Given the description of an element on the screen output the (x, y) to click on. 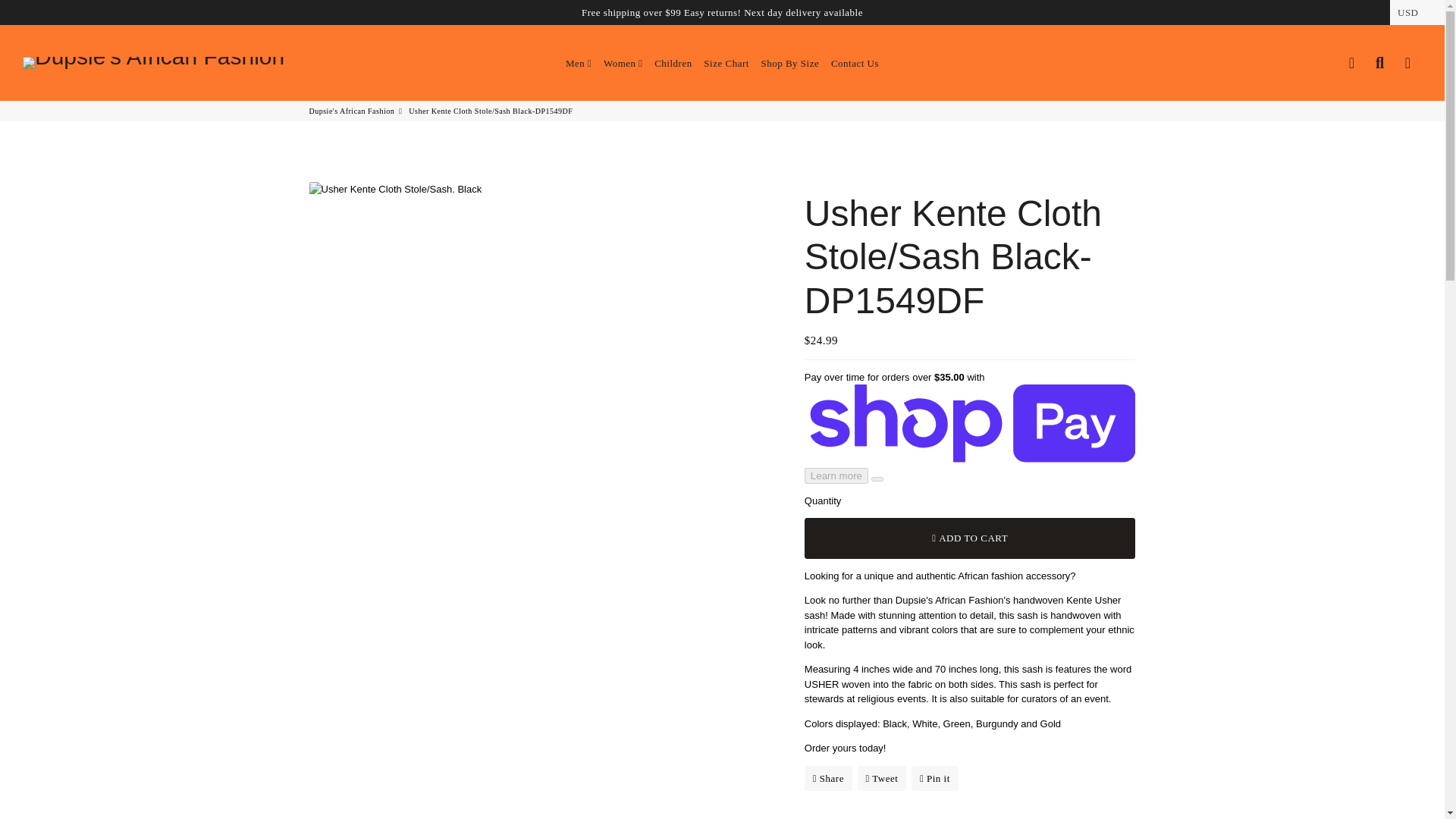
Tweet on Twitter (882, 778)
Pin on Pinterest (934, 778)
Share on Facebook (828, 778)
